Given the description of an element on the screen output the (x, y) to click on. 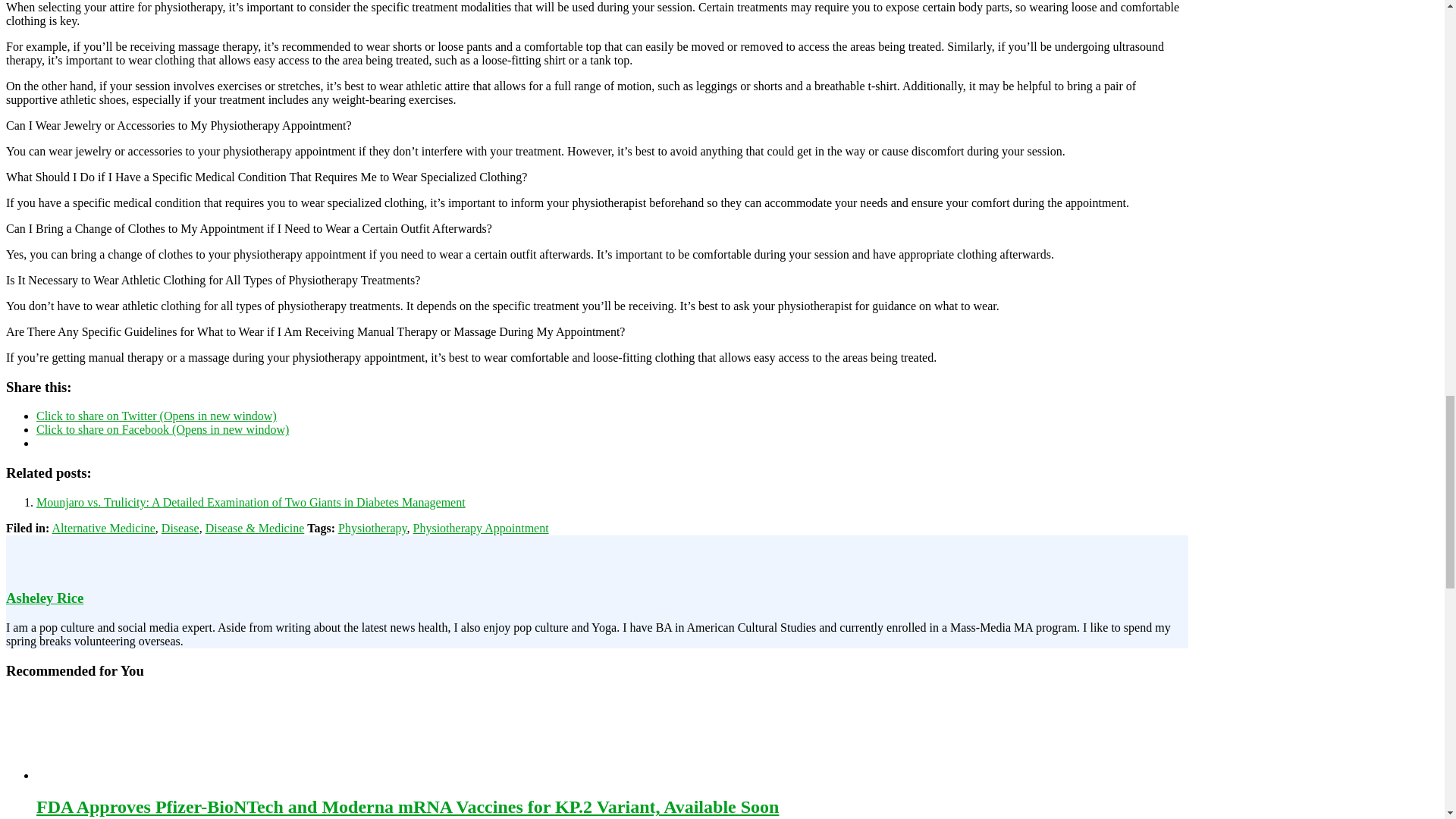
Click to share on Twitter (156, 415)
Click to share on Facebook (162, 429)
